Given the description of an element on the screen output the (x, y) to click on. 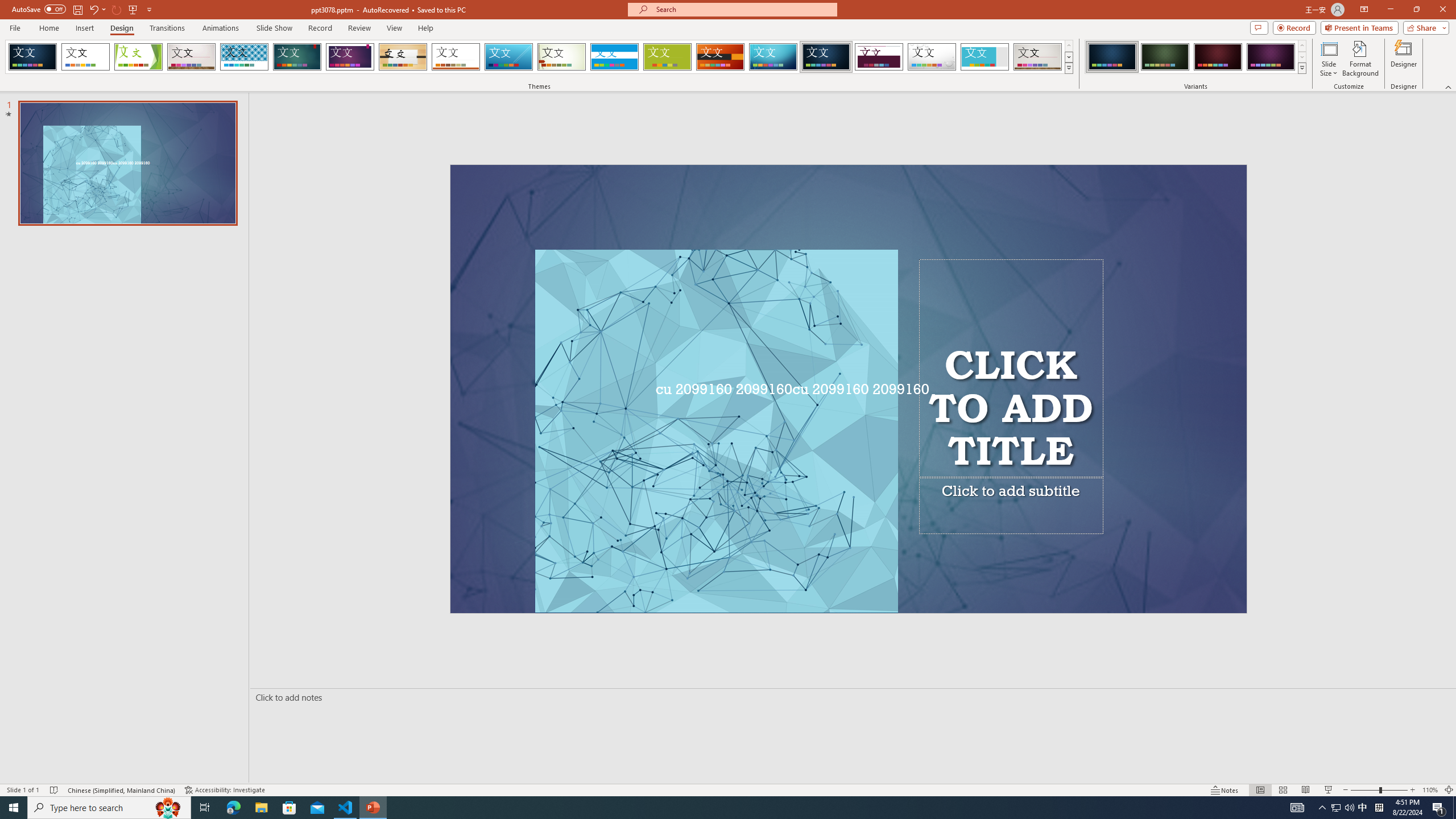
AutomationID: SlideThemesGallery (539, 56)
Wisp (561, 56)
